Given the description of an element on the screen output the (x, y) to click on. 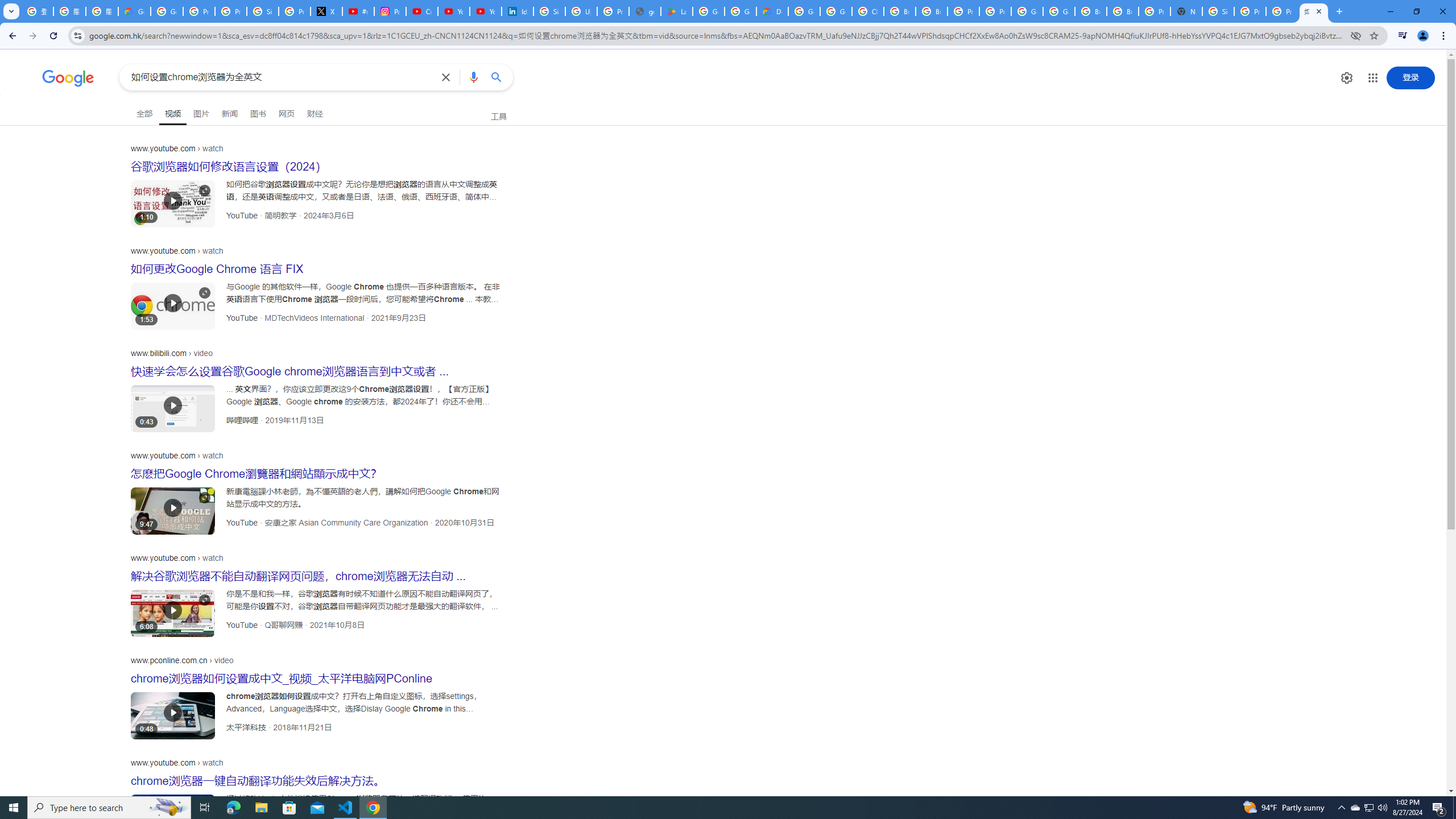
Browse Chrome as a guest - Computer - Google Chrome Help (931, 11)
Google Cloud Platform (1059, 11)
Last Shelter: Survival - Apps on Google Play (676, 11)
Browse Chrome as a guest - Computer - Google Chrome Help (1123, 11)
